Given the description of an element on the screen output the (x, y) to click on. 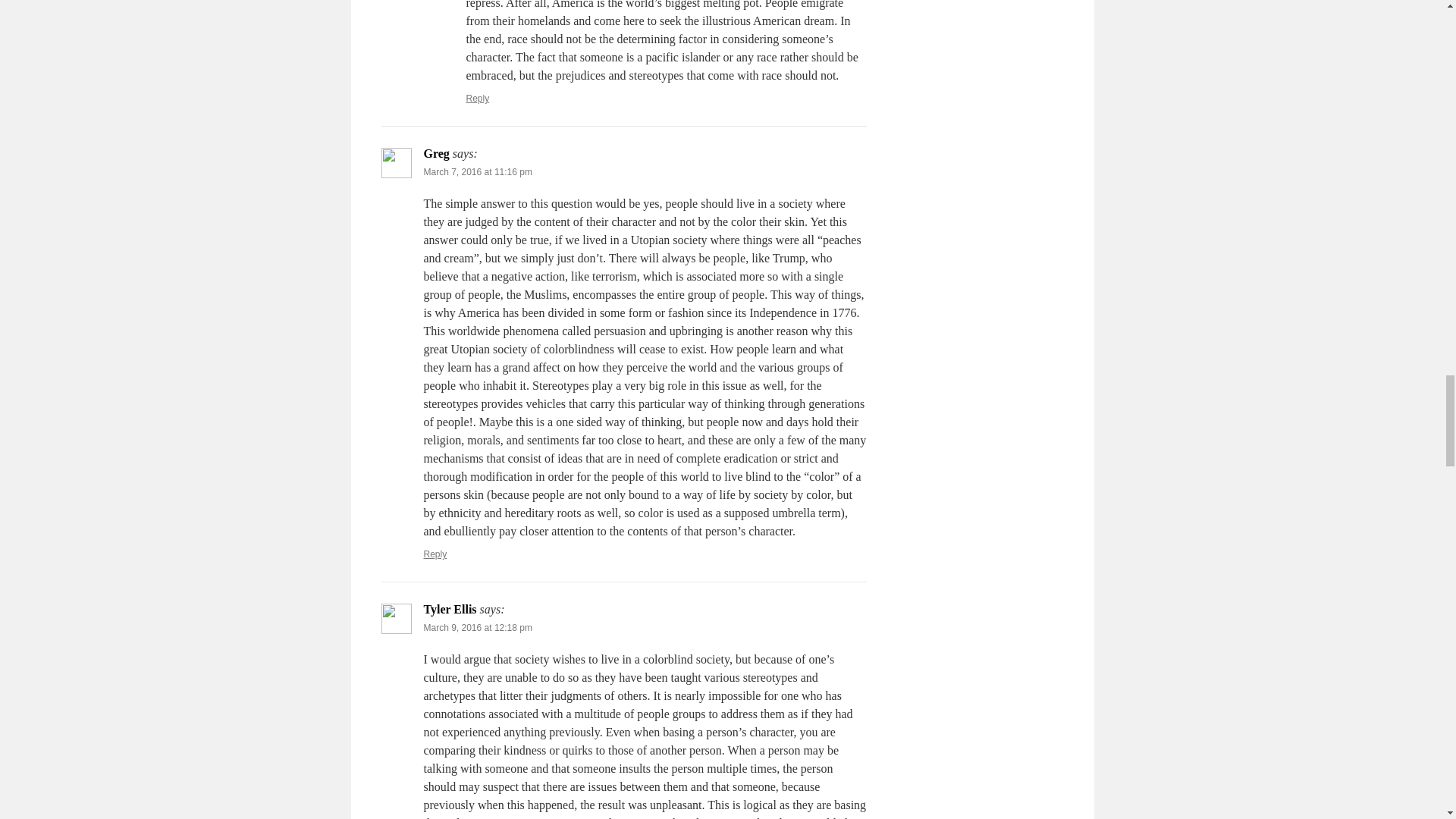
Reply (434, 553)
Reply (477, 98)
March 7, 2016 at 11:16 pm (477, 172)
